Given the description of an element on the screen output the (x, y) to click on. 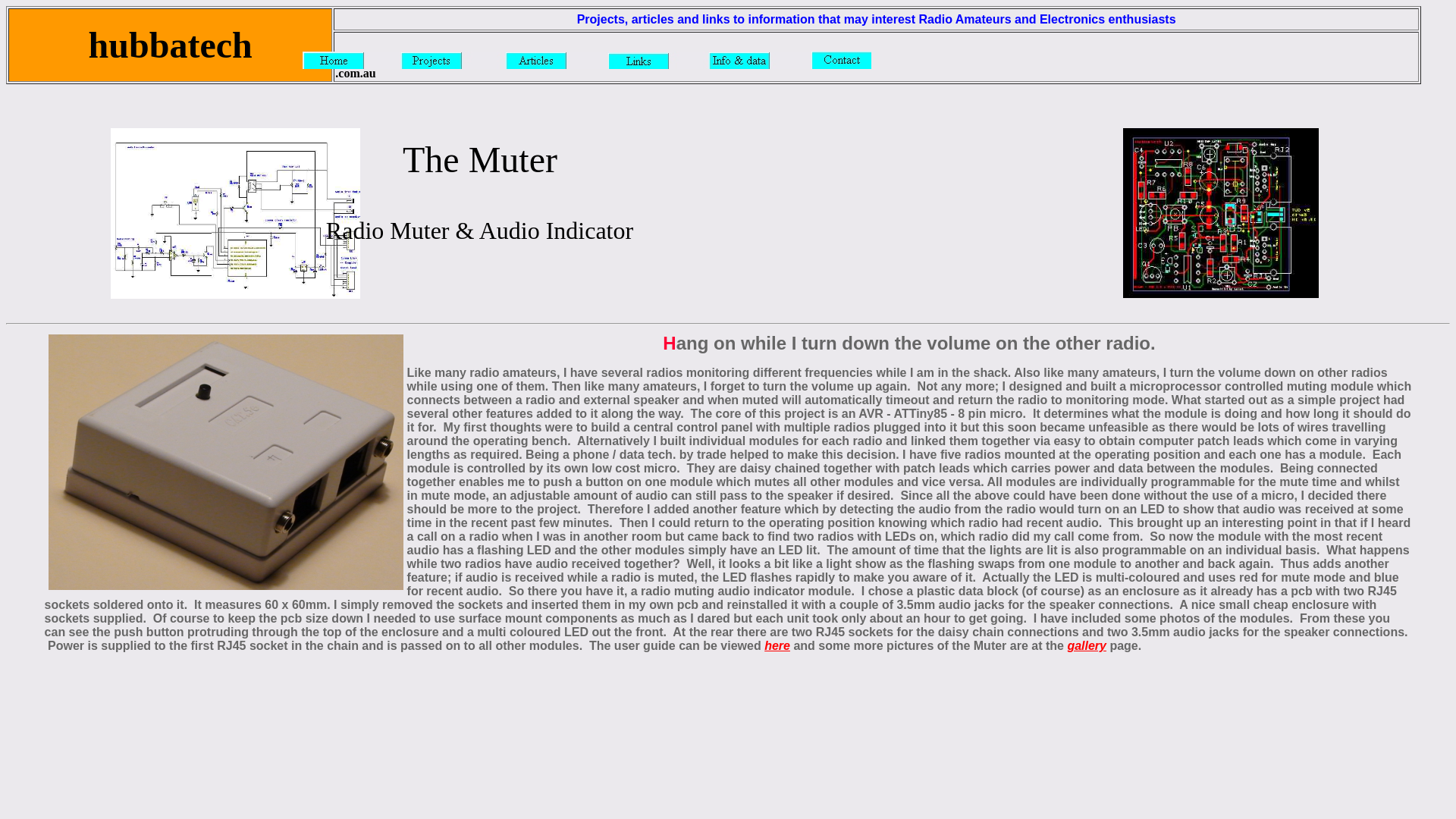
here Element type: text (777, 645)
gallery Element type: text (1086, 645)
